Given the description of an element on the screen output the (x, y) to click on. 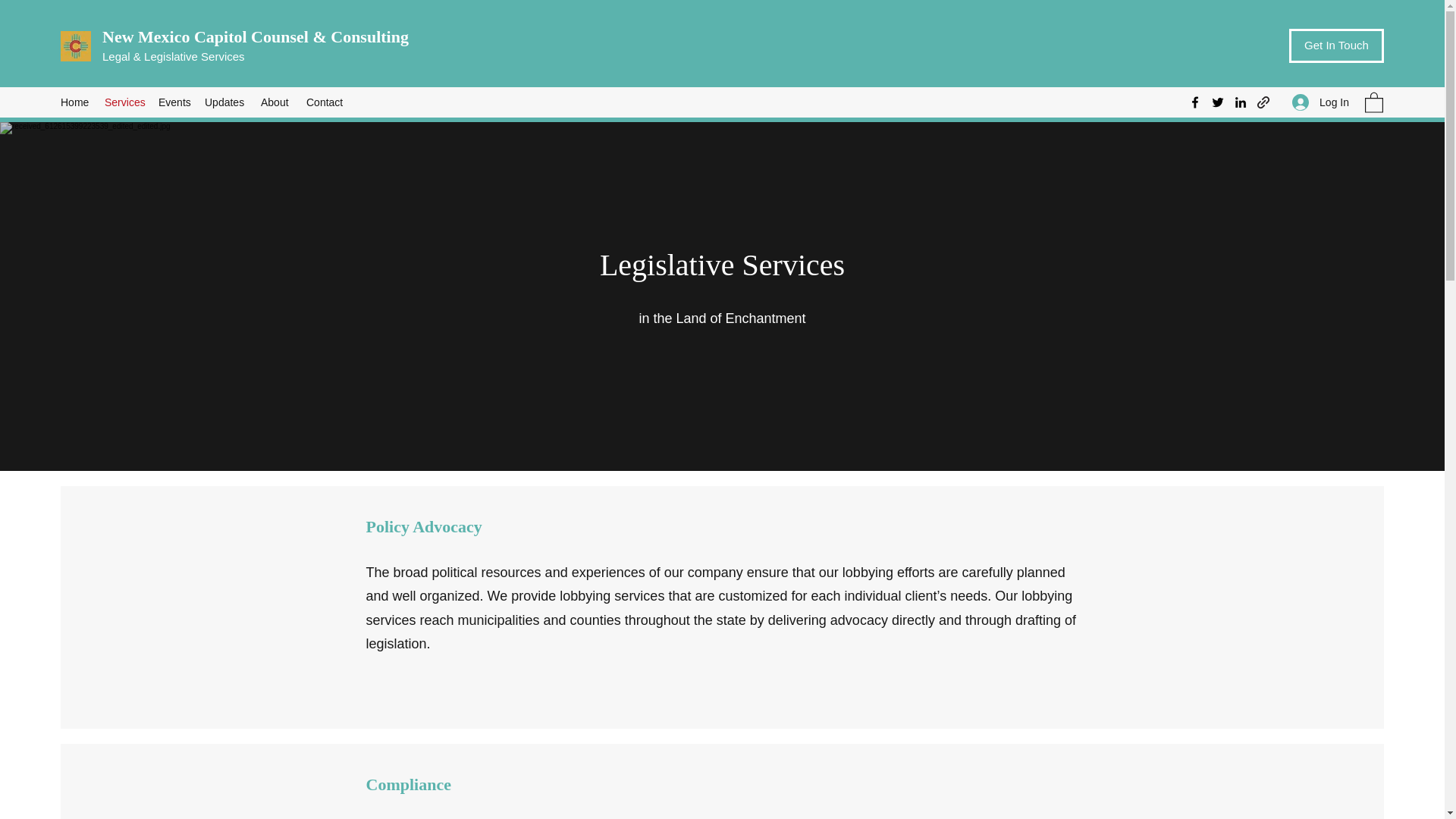
Events (173, 101)
Updates (224, 101)
Services (124, 101)
About (275, 101)
Contact (325, 101)
Home (74, 101)
Log In (1320, 102)
Get In Touch (1336, 45)
